Given the description of an element on the screen output the (x, y) to click on. 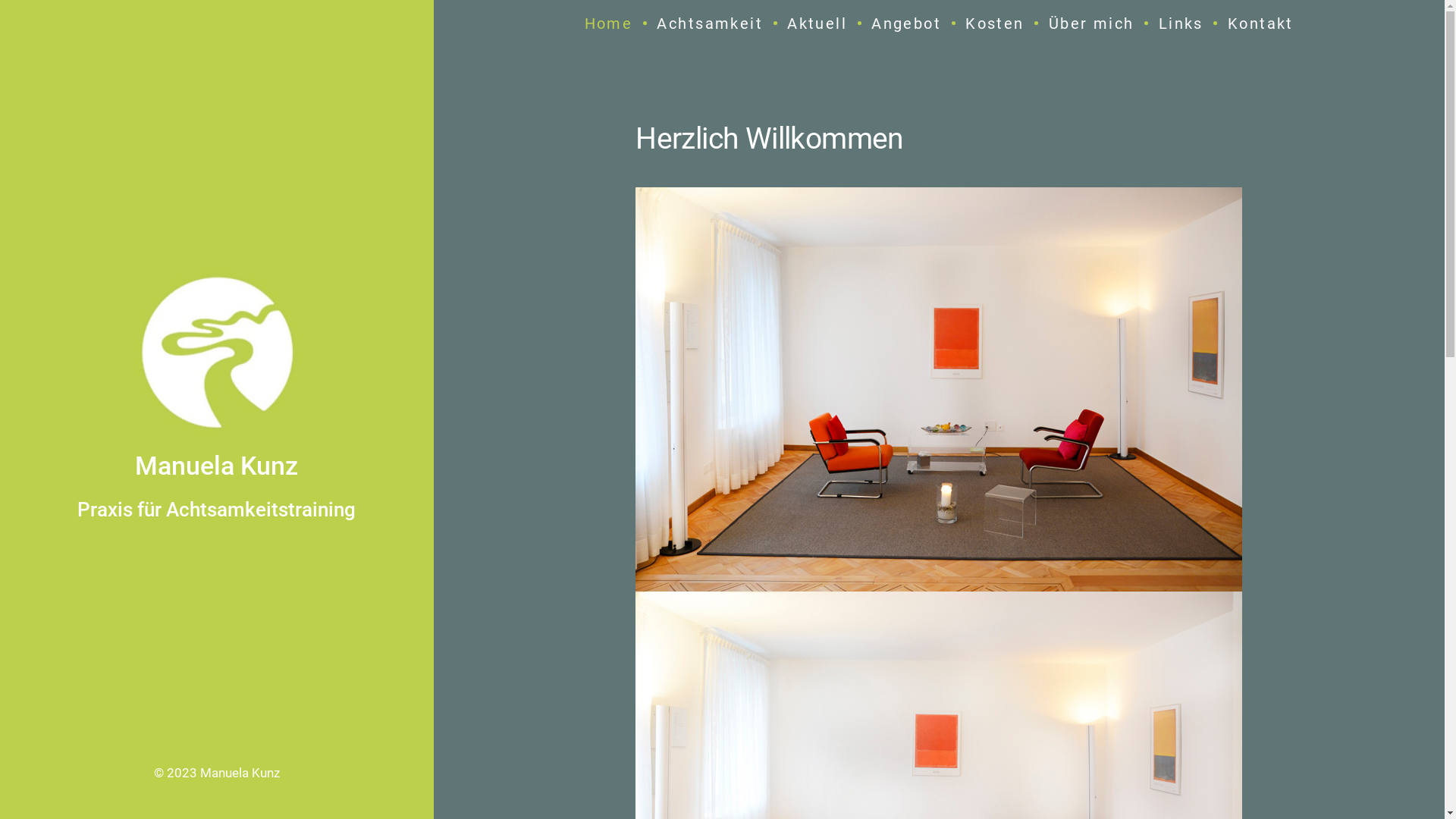
Kontakt Element type: text (1260, 23)
Achtsamkeit Element type: text (709, 23)
Manuela Kunz Element type: text (216, 465)
Home Element type: text (608, 23)
Kosten Element type: text (994, 23)
Links Element type: text (1180, 23)
Manuela Kunz Element type: text (239, 772)
Angebot Element type: text (906, 23)
Aktuell Element type: text (817, 23)
